Given the description of an element on the screen output the (x, y) to click on. 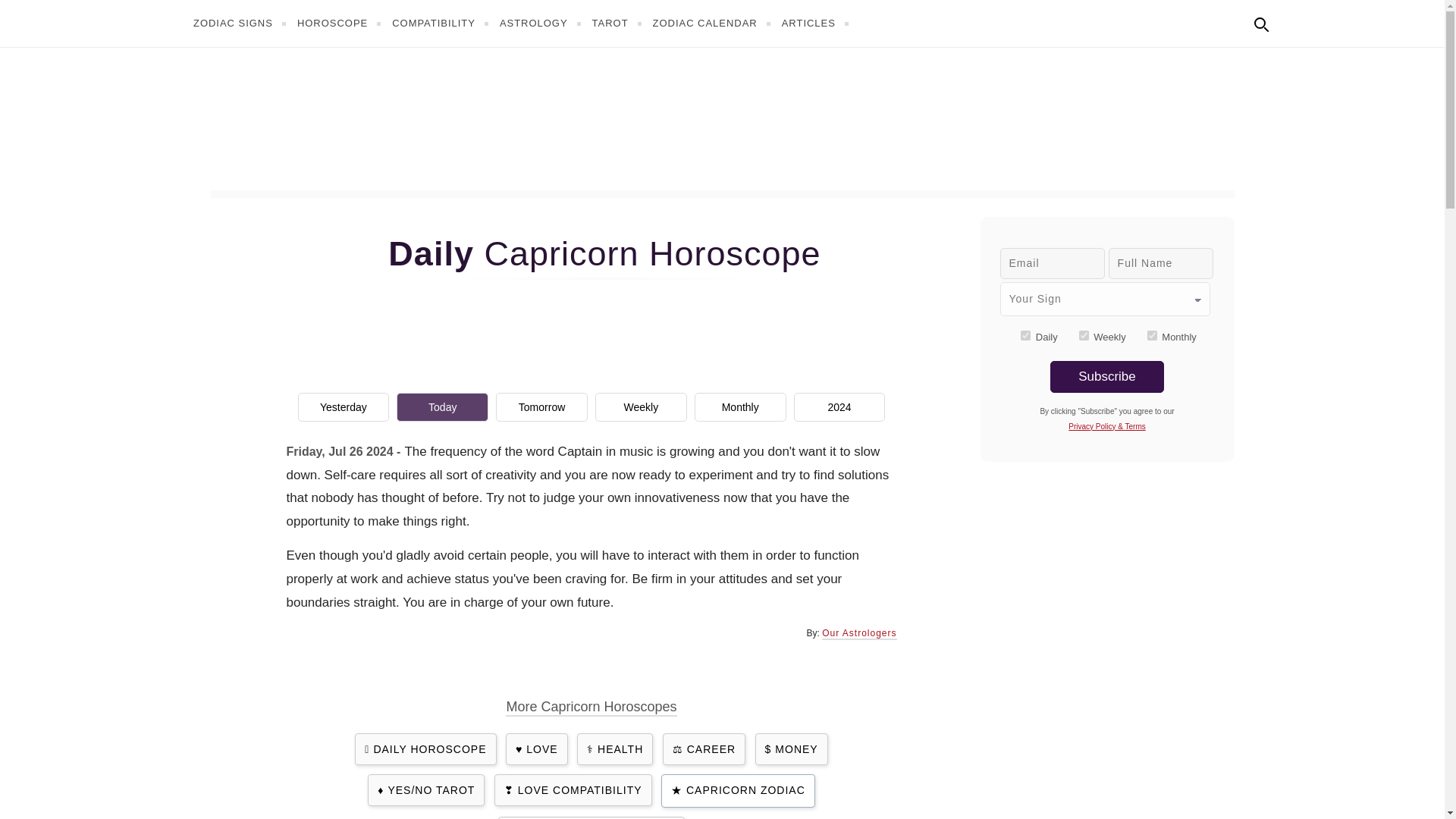
monthly (1152, 335)
weekly (1083, 335)
HOROSCOPE (341, 23)
daily (1025, 335)
ZODIAC SIGNS (241, 23)
In English (1294, 21)
